Given the description of an element on the screen output the (x, y) to click on. 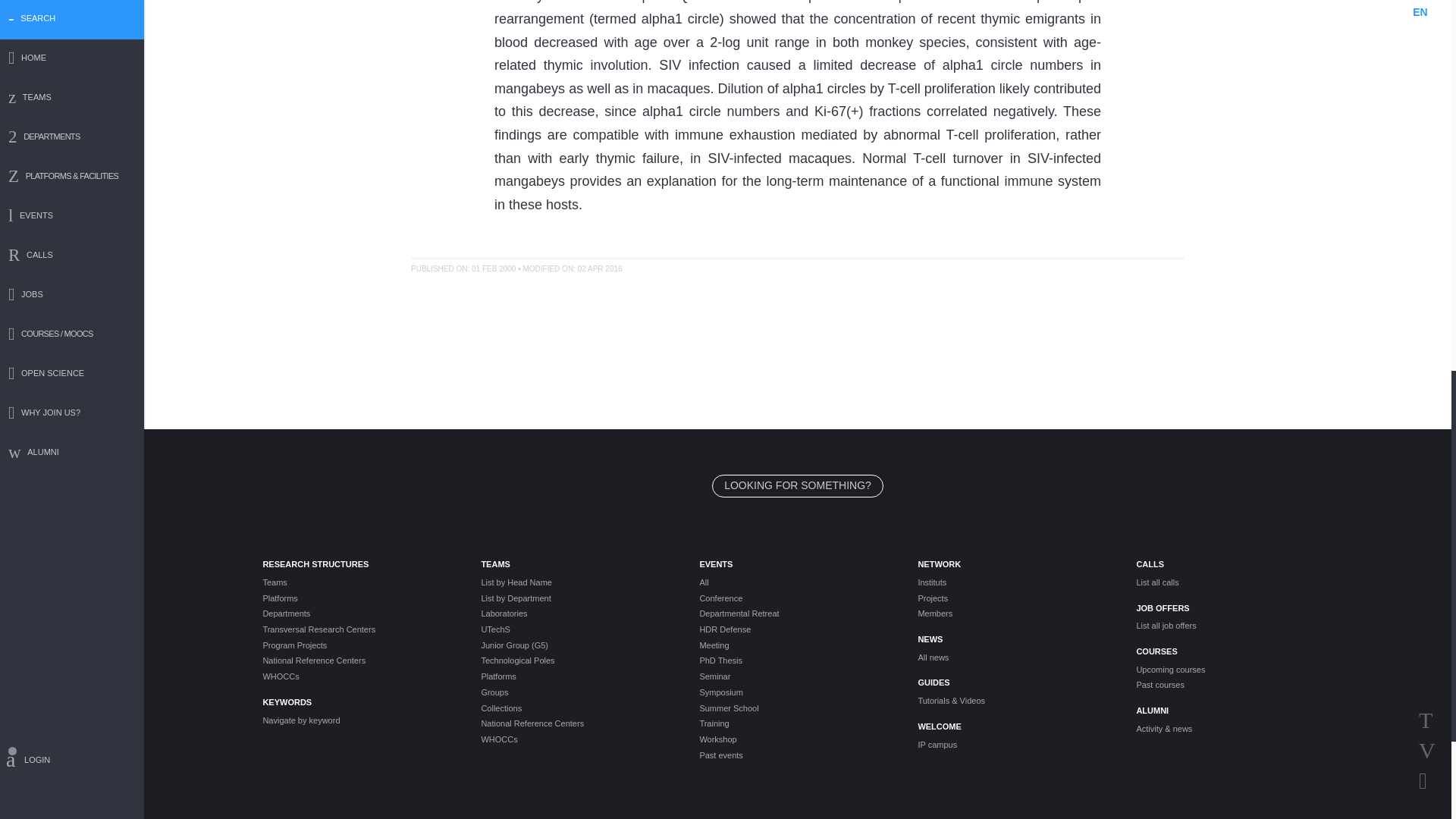
Departments (360, 613)
Platforms (360, 598)
Teams (360, 582)
